Given the description of an element on the screen output the (x, y) to click on. 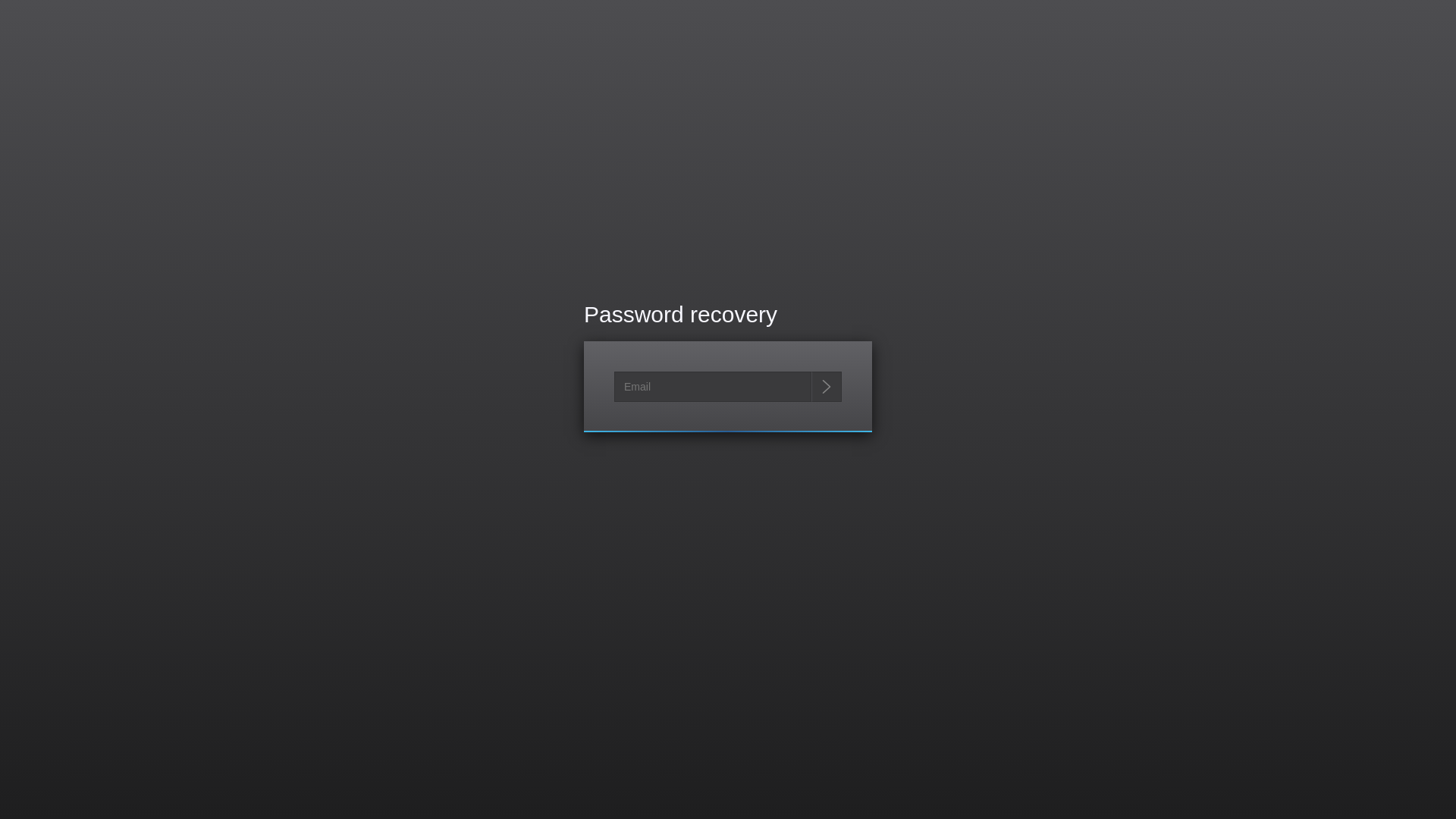
Send me reset password instructions Element type: hover (826, 386)
Send me reset password instructions Element type: text (826, 386)
